Given the description of an element on the screen output the (x, y) to click on. 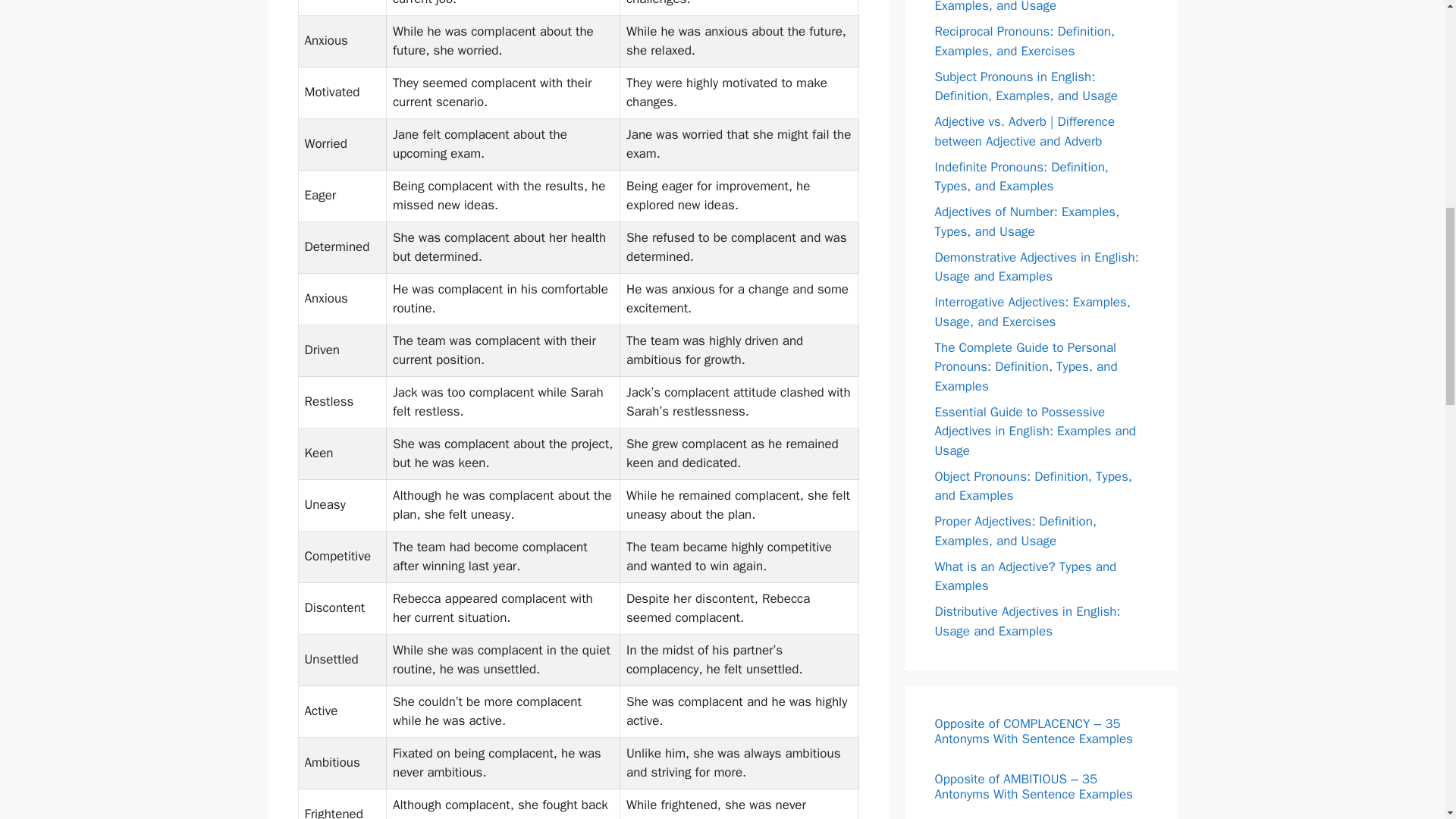
Demonstrative Adjectives in English: Usage and Examples (1036, 266)
Distributive Pronouns: Types, Examples, and Usage (1015, 7)
Subject Pronouns in English: Definition, Examples, and Usage (1025, 85)
Interrogative Adjectives: Examples, Usage, and Exercises (1031, 312)
Adjectives of Number: Examples, Types, and Usage (1026, 221)
Object Pronouns: Definition, Types, and Examples (1032, 486)
Indefinite Pronouns: Definition, Types, and Examples (1021, 176)
Reciprocal Pronouns: Definition, Examples, and Exercises (1024, 40)
